Given the description of an element on the screen output the (x, y) to click on. 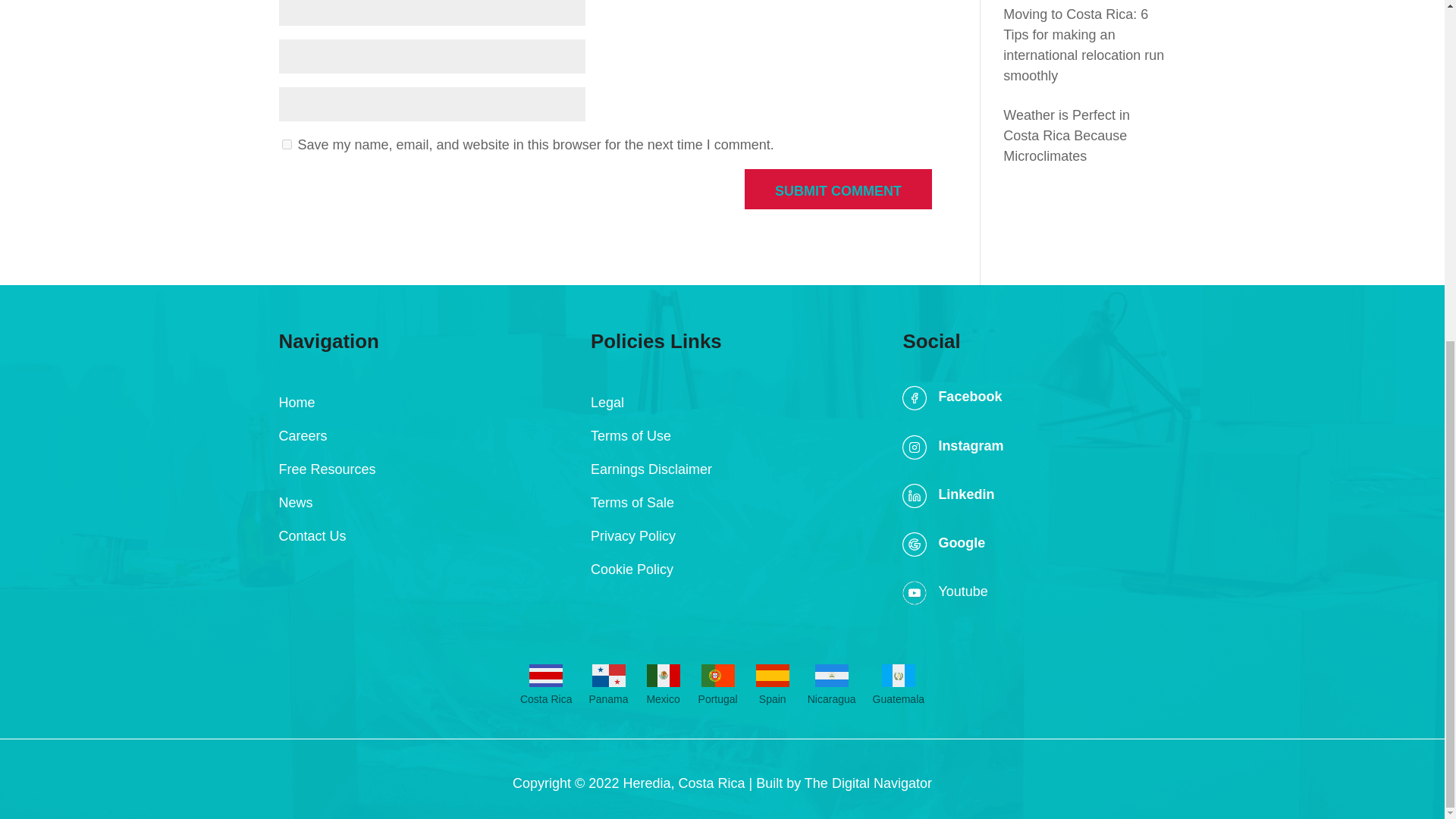
yes (287, 144)
Submit Comment (837, 188)
